Given the description of an element on the screen output the (x, y) to click on. 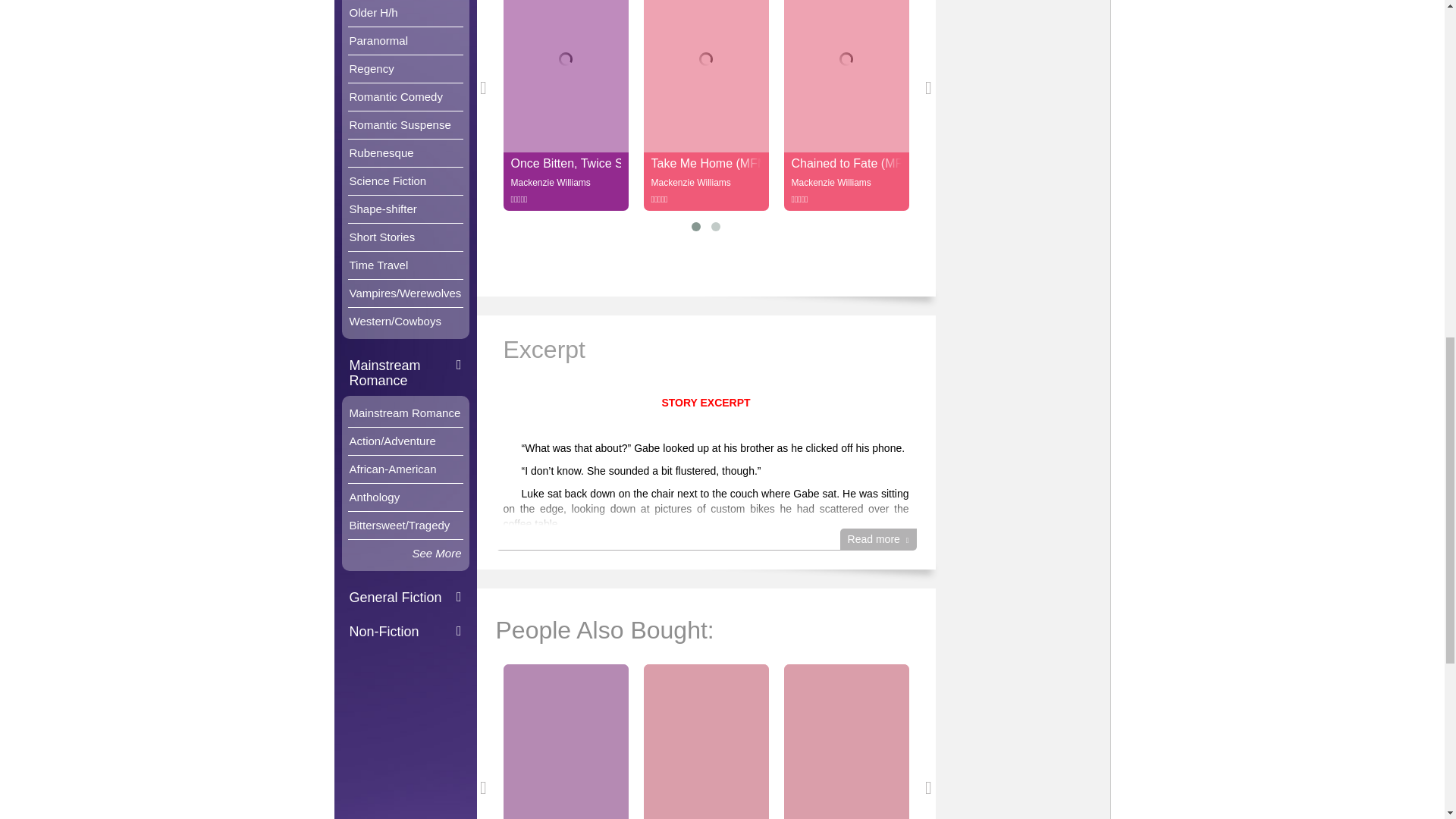
Romantic Comedy (405, 96)
Rubenesque (405, 153)
Paranormal (405, 40)
Regency (405, 68)
Romantic Suspense (405, 124)
